Given the description of an element on the screen output the (x, y) to click on. 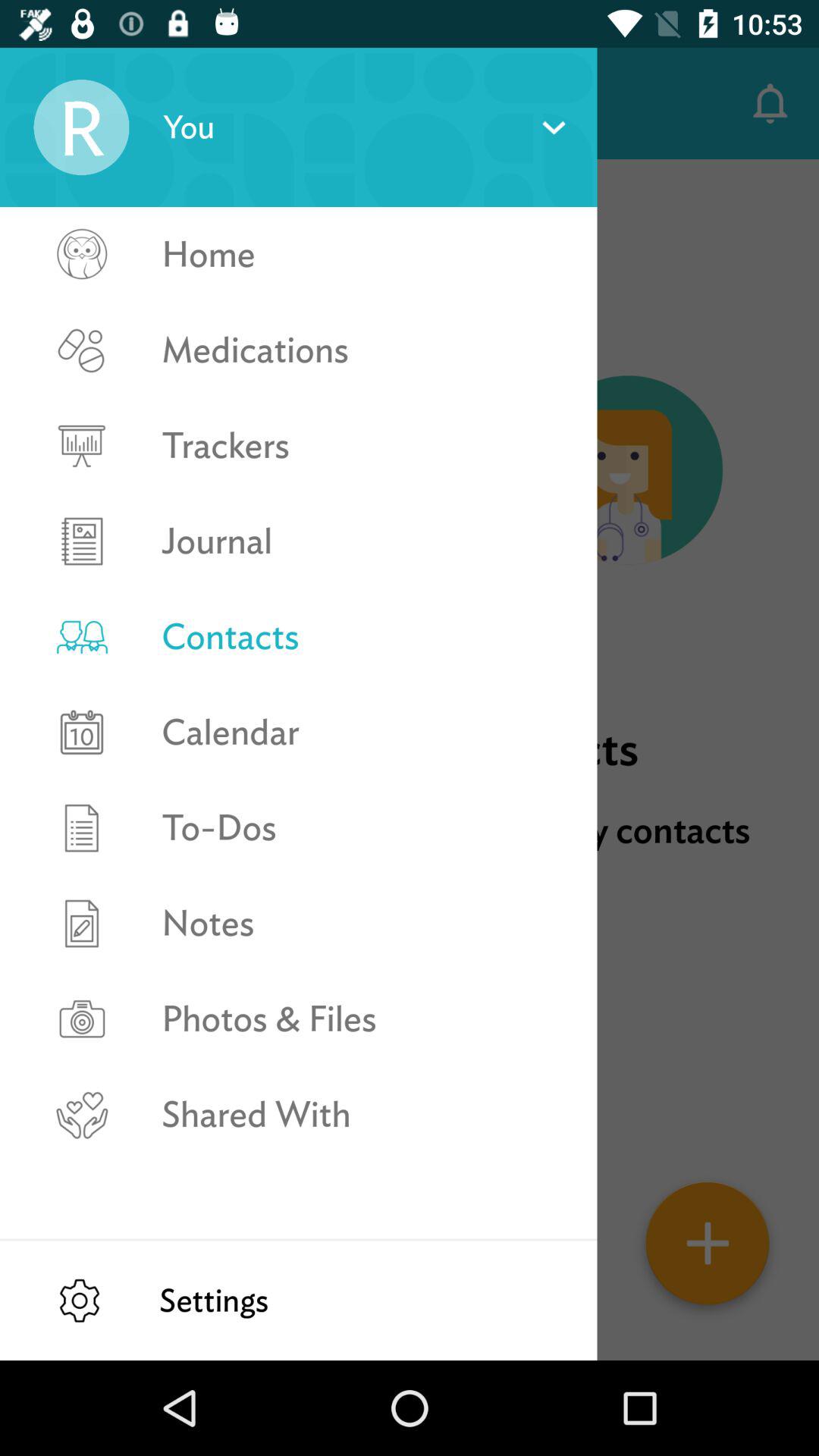
scroll to the home (363, 254)
